Given the description of an element on the screen output the (x, y) to click on. 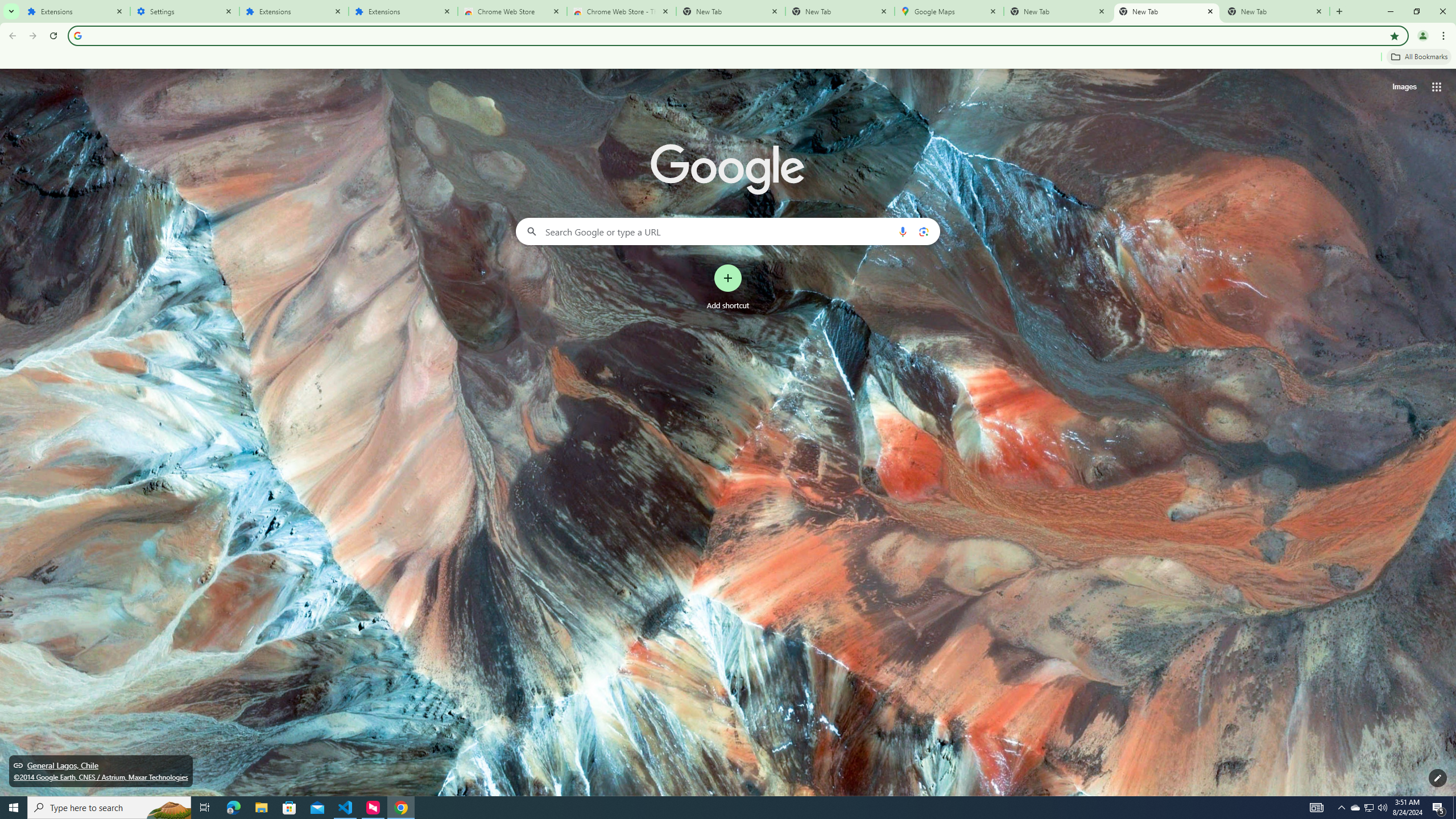
Extensions (293, 11)
Customize this page (1437, 778)
